Given the description of an element on the screen output the (x, y) to click on. 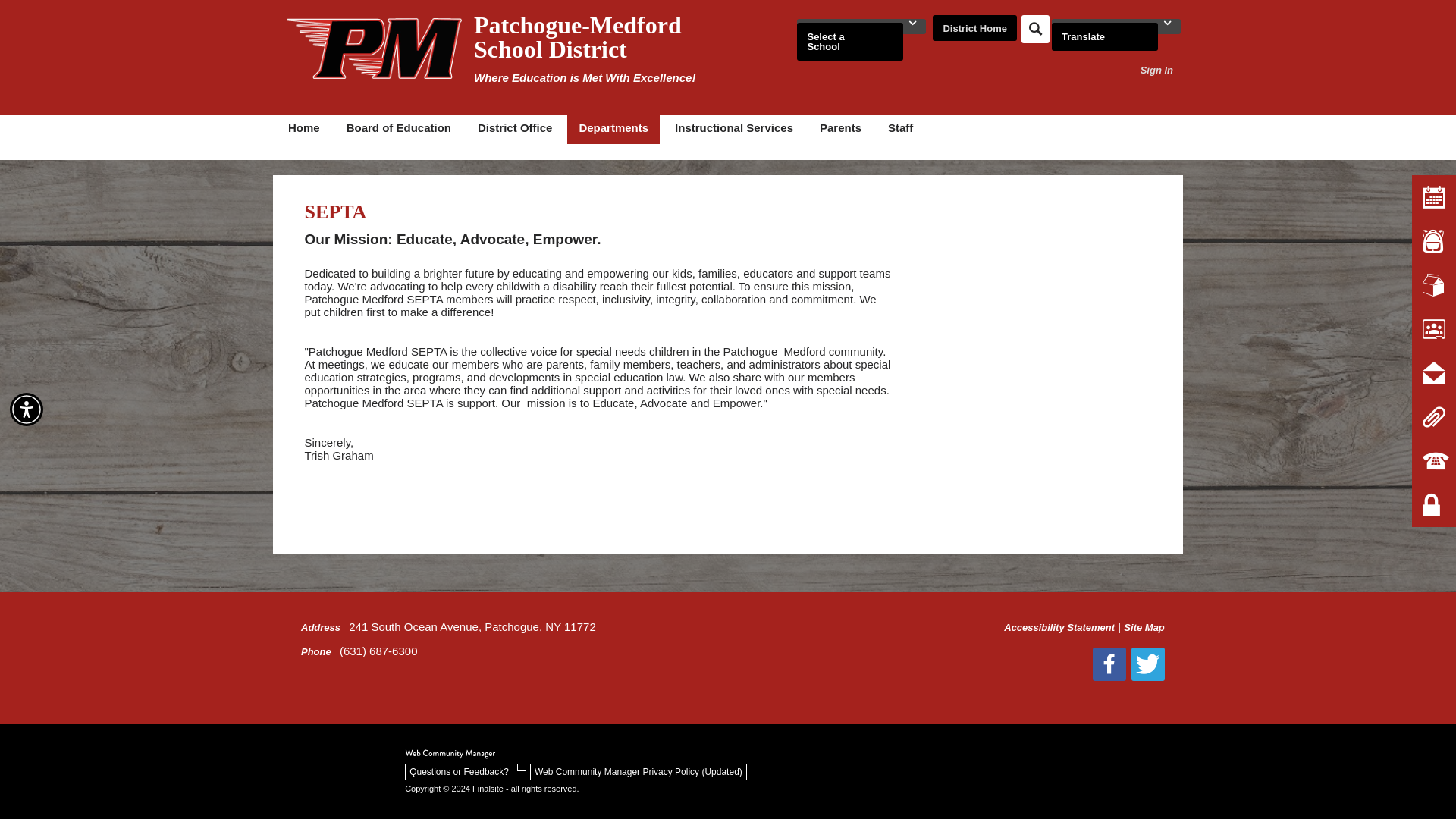
Home (303, 129)
District Office (514, 129)
Accessibility Menu (26, 409)
Sign In (1156, 70)
Board of Education (398, 129)
Return to the home page on the district site (974, 28)
Patchogue-Medford School District (373, 48)
District Home (974, 28)
Finalsite - all rights reserved (450, 753)
Departments (613, 129)
